Given the description of an element on the screen output the (x, y) to click on. 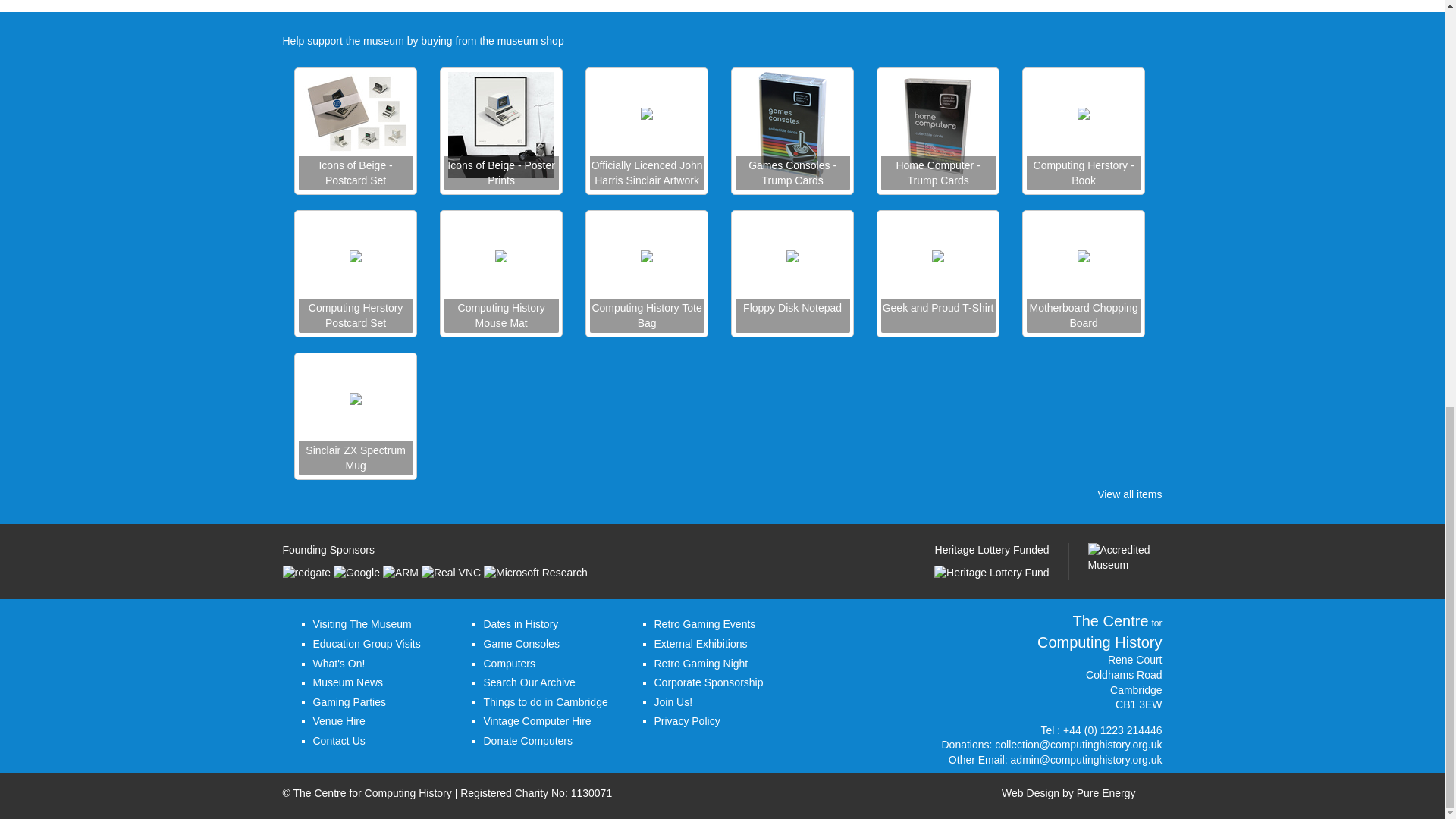
Floppy Disk Notepad (792, 315)
Computing Herstory Postcard Set (355, 315)
Games Consoles - Trump Cards (792, 173)
Icons of Beige - Postcard Set (355, 173)
Computing History Tote Bag (646, 315)
Icons of Beige - Poster Prints (501, 173)
Home Computer - Trump Cards (937, 173)
Computing History Mouse Mat (501, 315)
Computing Herstory - Book (1083, 173)
